Given the description of an element on the screen output the (x, y) to click on. 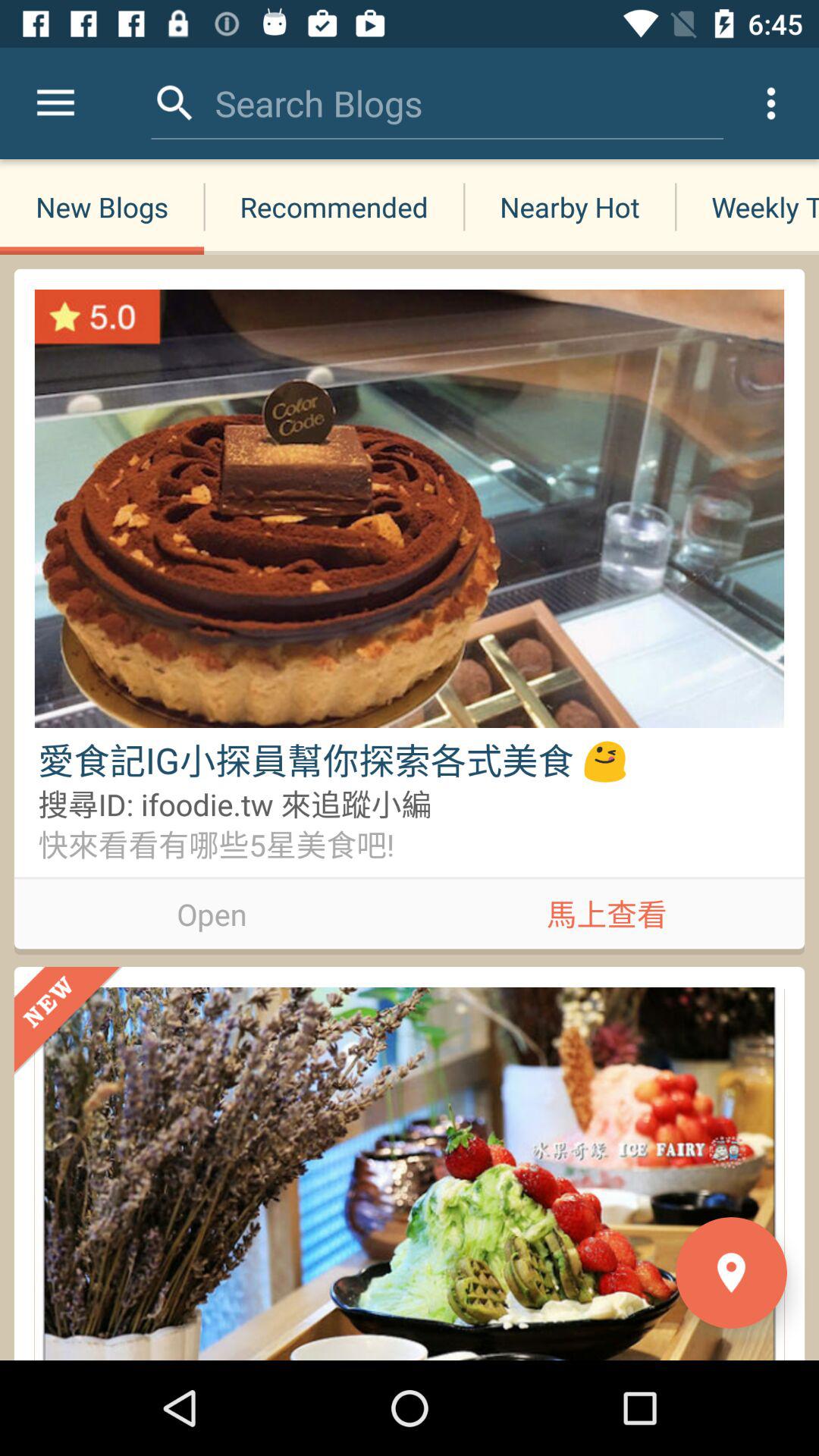
click the option which says open (211, 911)
select the search icon on left side of text search blogs (175, 103)
click on the icon which is at the top right of the screen (771, 103)
select the text which is at the top left corner in the second image from the top (68, 1020)
